Given the description of an element on the screen output the (x, y) to click on. 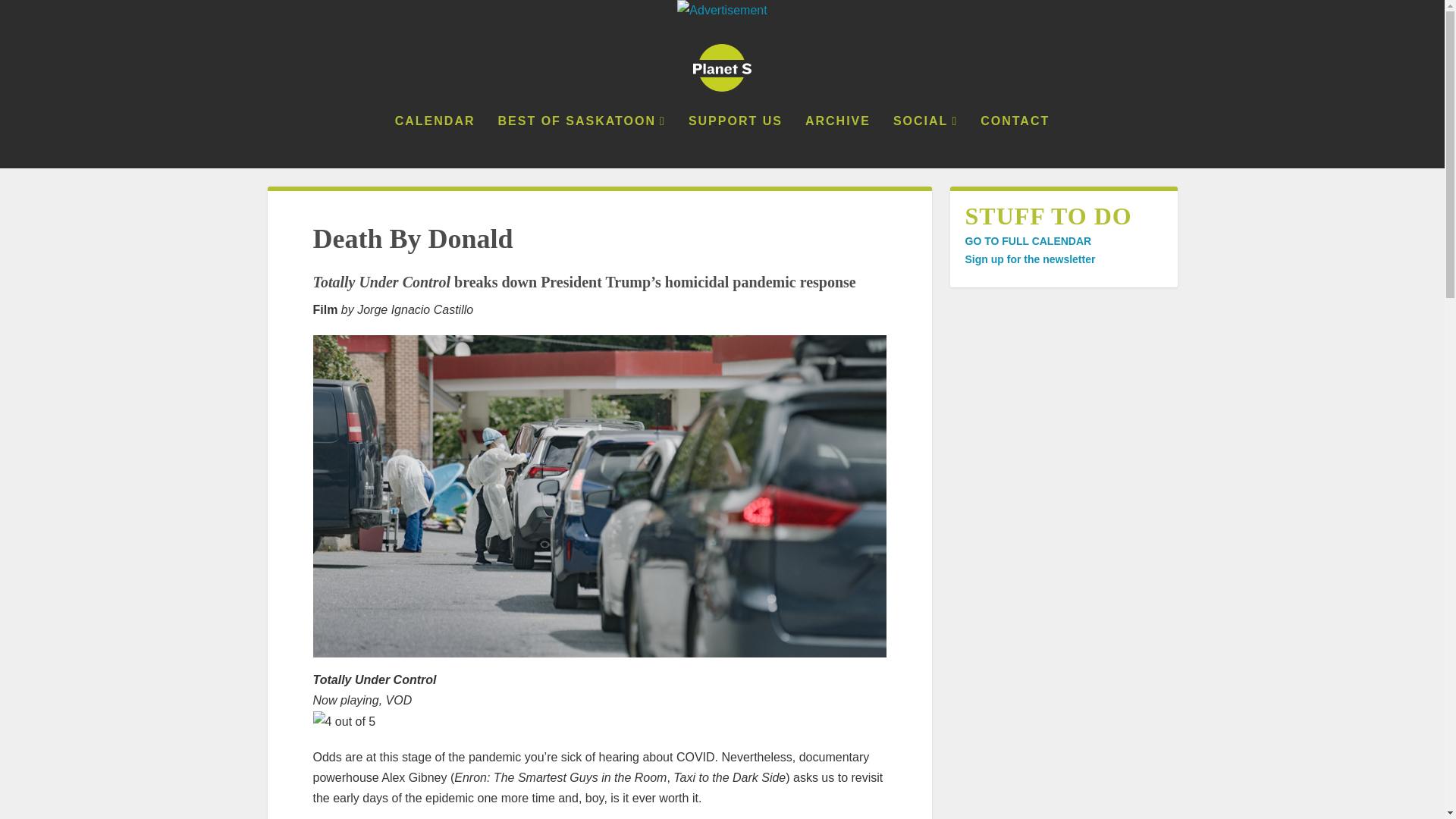
CALENDAR (435, 141)
Sign up for the newsletter (1028, 259)
GO TO FULL CALENDAR (1026, 241)
BEST OF SASKATOON (581, 141)
CONTACT (1014, 141)
ARCHIVE (837, 141)
SUPPORT US (735, 141)
SOCIAL (925, 141)
